Given the description of an element on the screen output the (x, y) to click on. 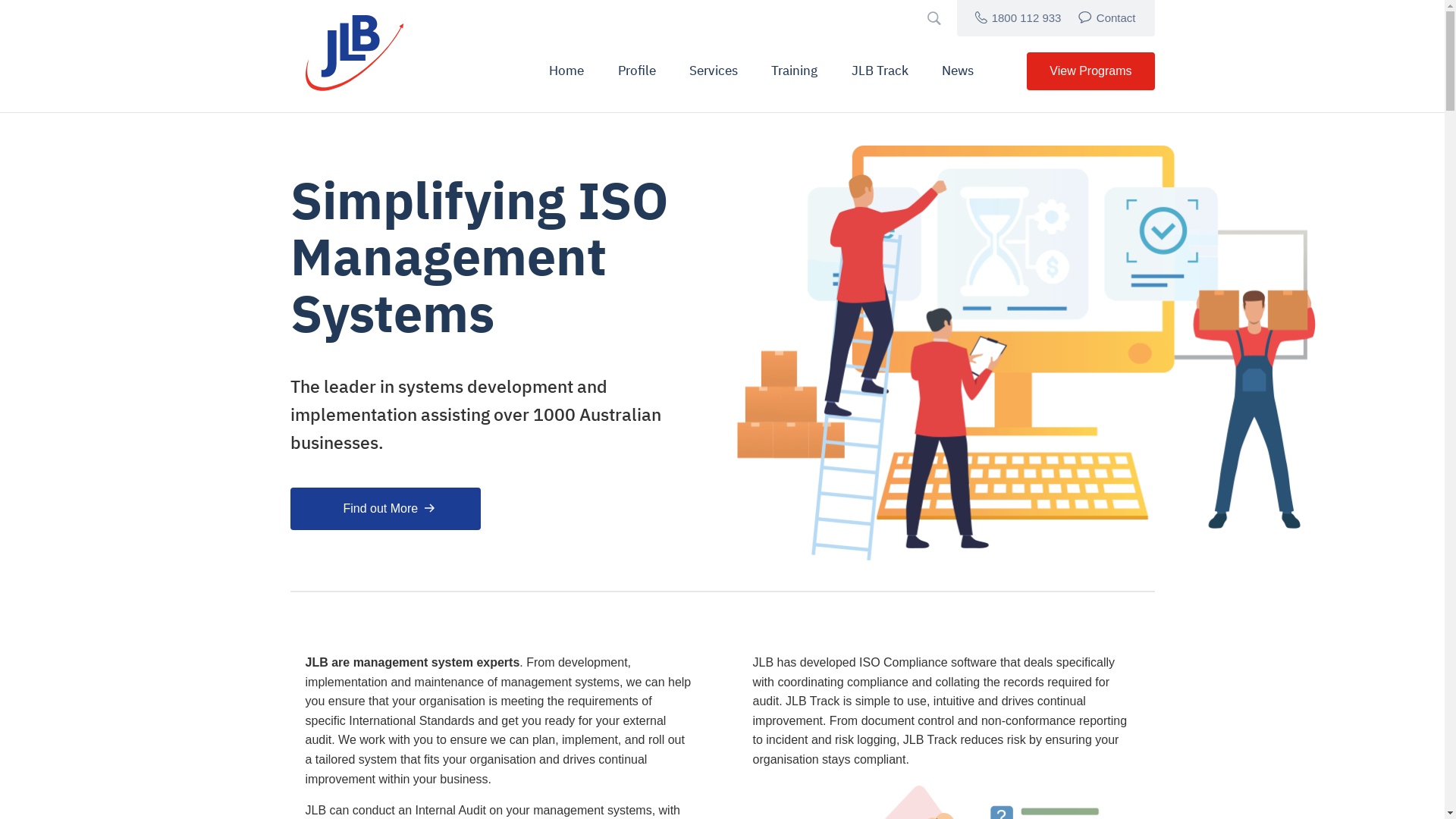
Services Element type: text (713, 70)
News Element type: text (957, 70)
1800 112 933 Element type: text (1018, 18)
Profile Element type: text (636, 70)
View Programs Element type: text (1090, 71)
Contact Element type: text (1107, 18)
JLB Track Element type: text (879, 70)
Home Element type: text (566, 70)
Search Element type: text (847, 401)
Training Element type: text (794, 70)
Find out More Element type: text (384, 508)
